Given the description of an element on the screen output the (x, y) to click on. 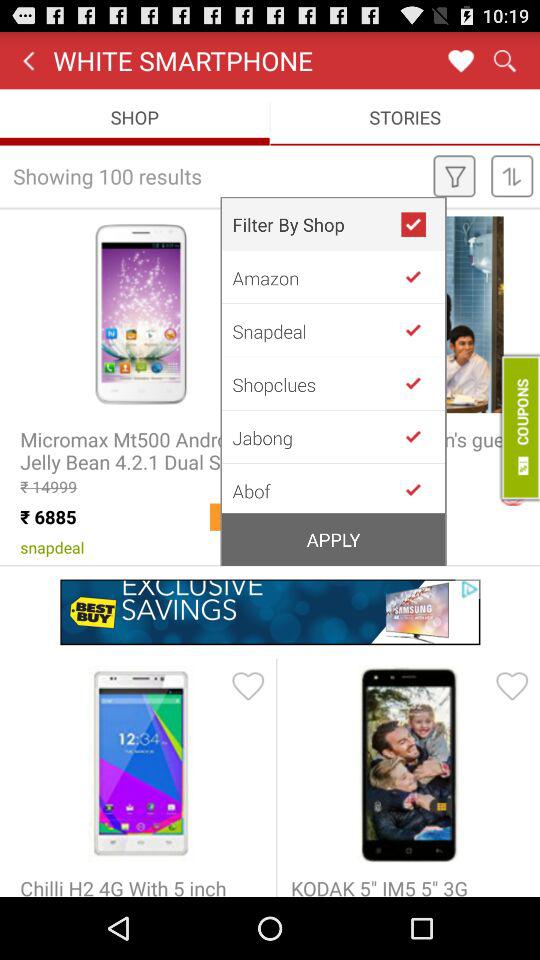
click snapdeal app (316, 330)
